Given the description of an element on the screen output the (x, y) to click on. 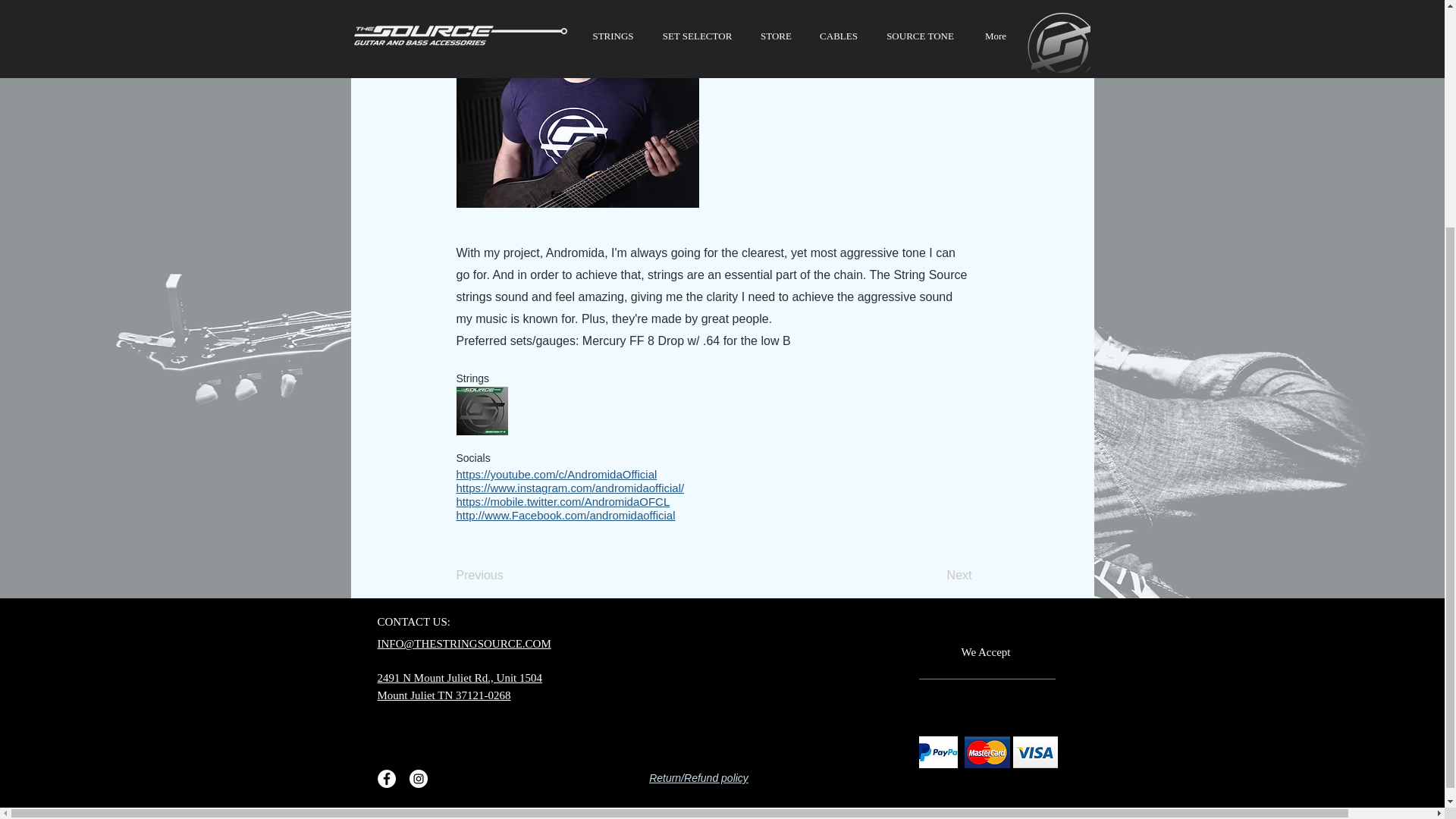
MFF-08.jpg (482, 410)
Next (934, 575)
Previous (506, 575)
